Given the description of an element on the screen output the (x, y) to click on. 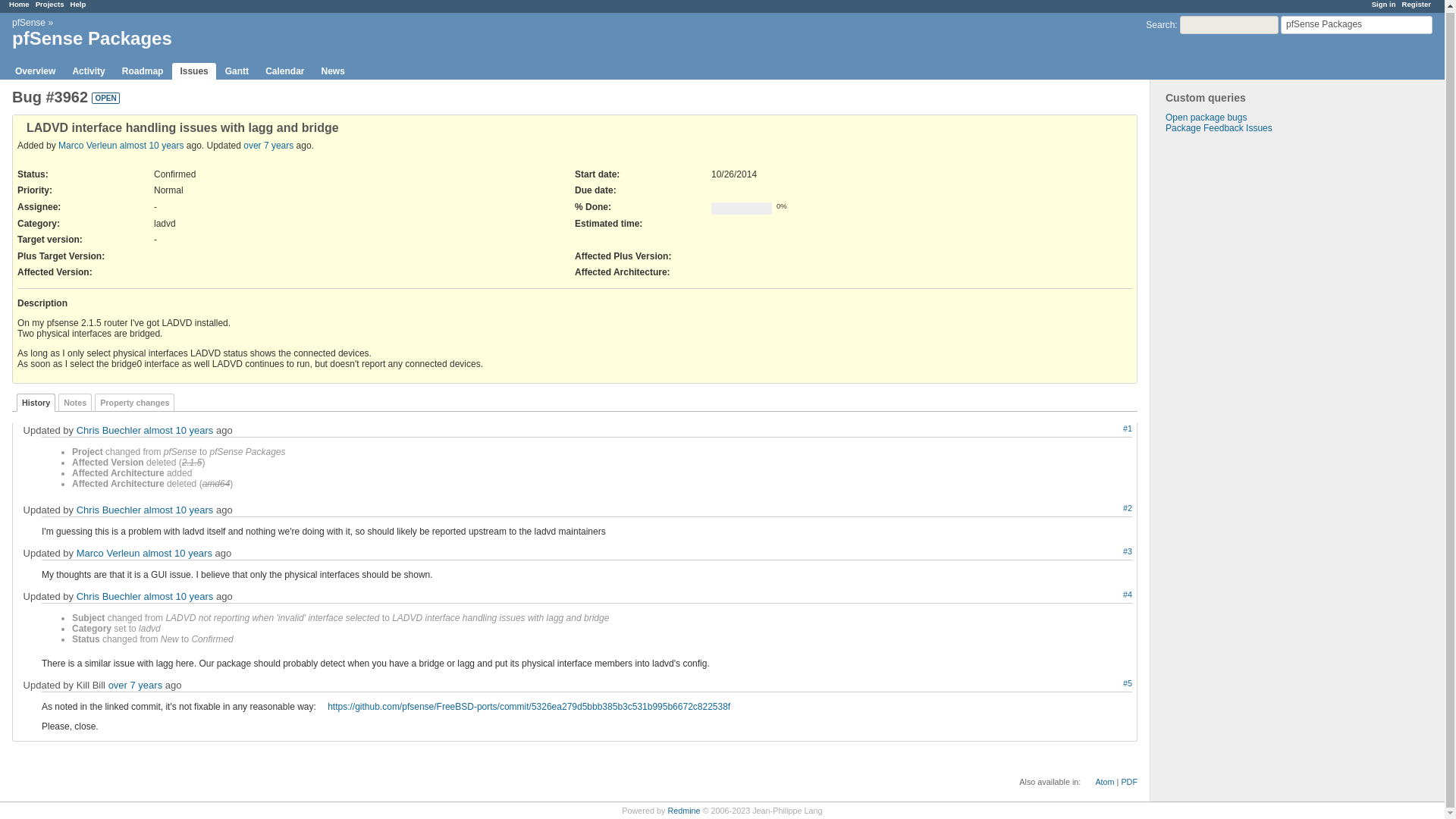
History (35, 402)
almost 10 years (179, 430)
Roadmap (143, 71)
Marco Verleun (108, 552)
Gantt (236, 71)
almost 10 years (151, 145)
Package Feedback Issues (1219, 127)
Sign in (1383, 4)
over 7 years (268, 145)
Projects (49, 4)
